Given the description of an element on the screen output the (x, y) to click on. 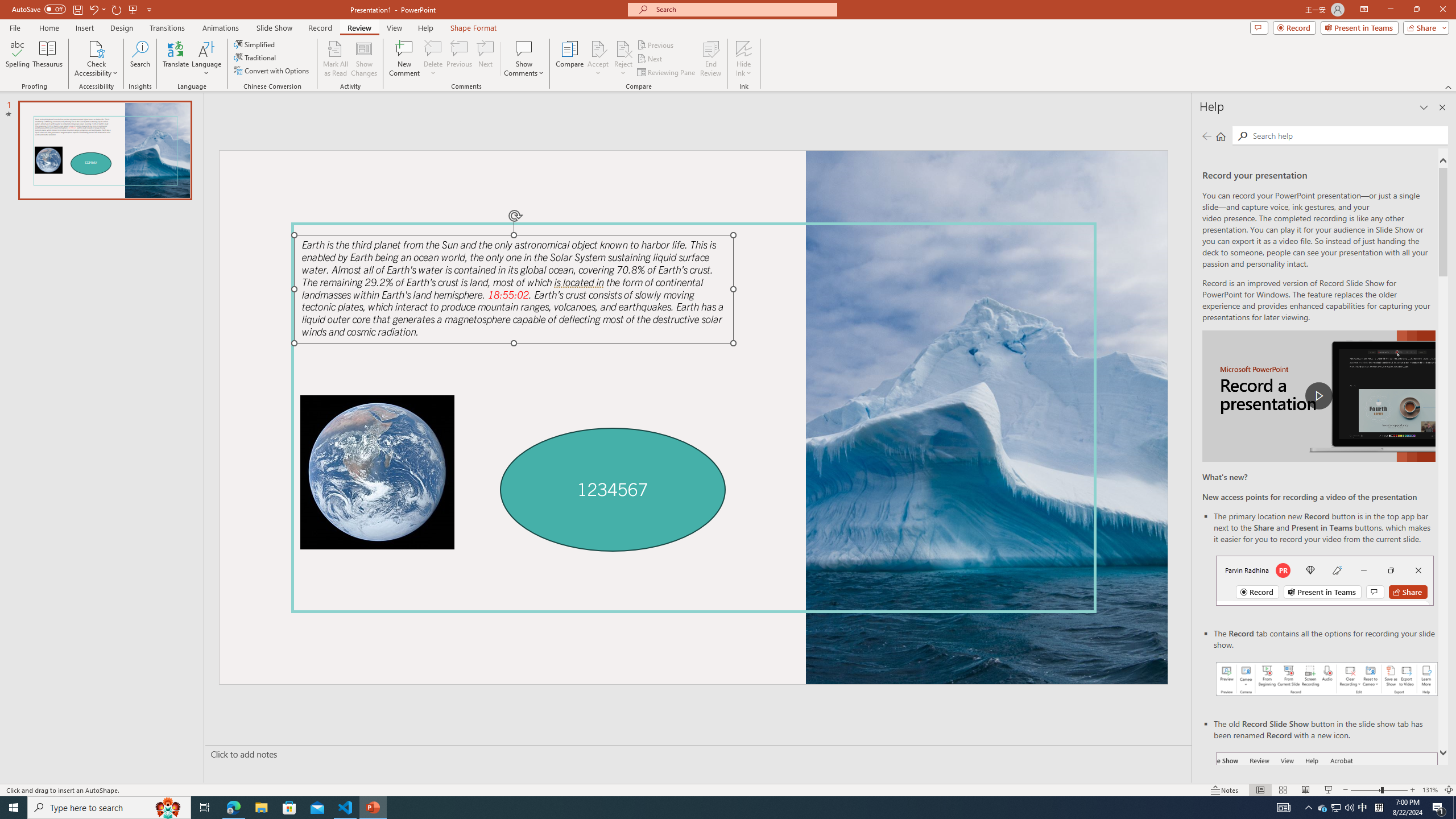
Thesaurus... (47, 58)
Zoom 131% (1430, 790)
Accept (598, 58)
Hide Ink (743, 48)
Convert with Options... (272, 69)
New Comment (403, 58)
